Given the description of an element on the screen output the (x, y) to click on. 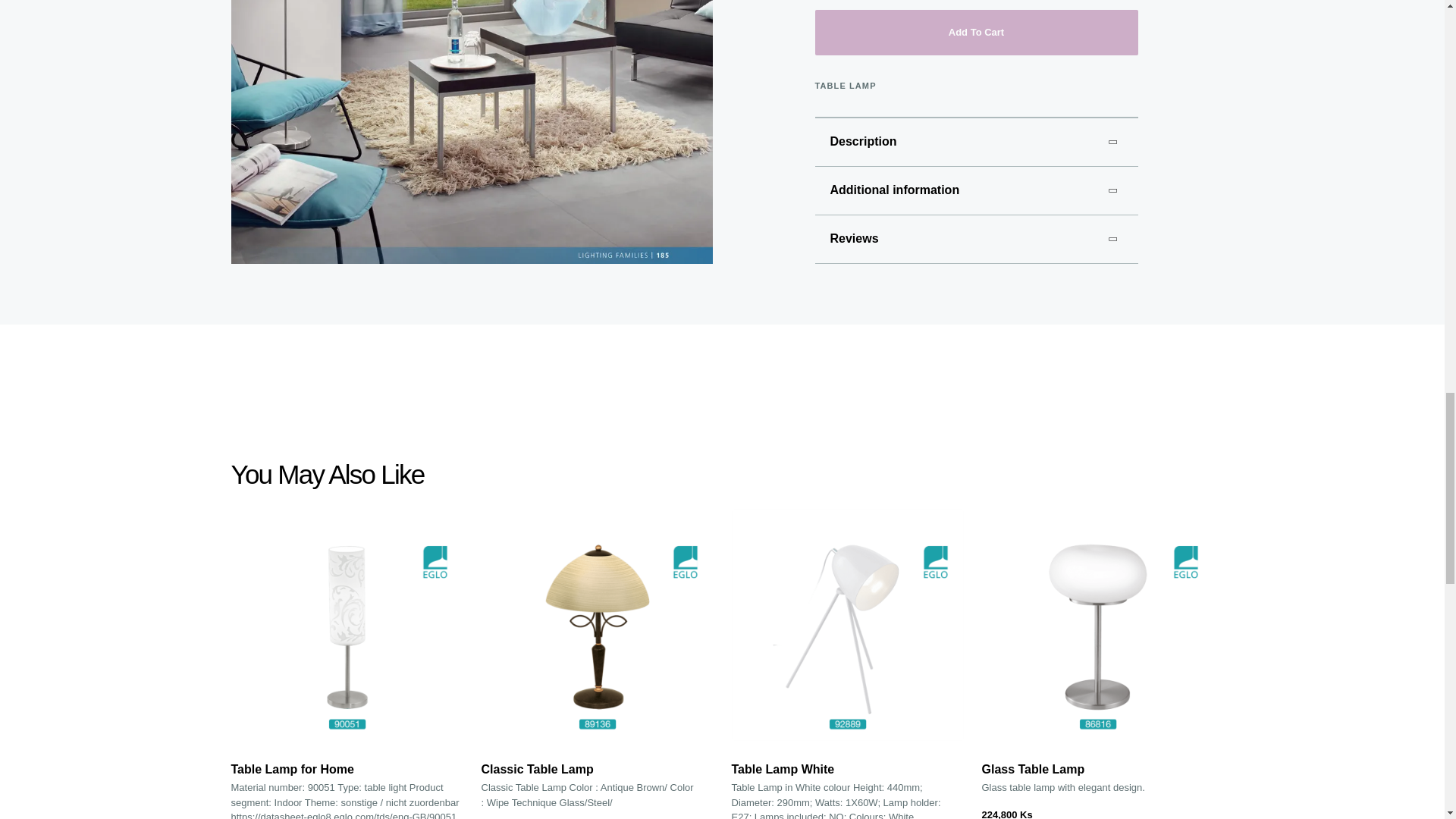
90308-1 (470, 131)
